Given the description of an element on the screen output the (x, y) to click on. 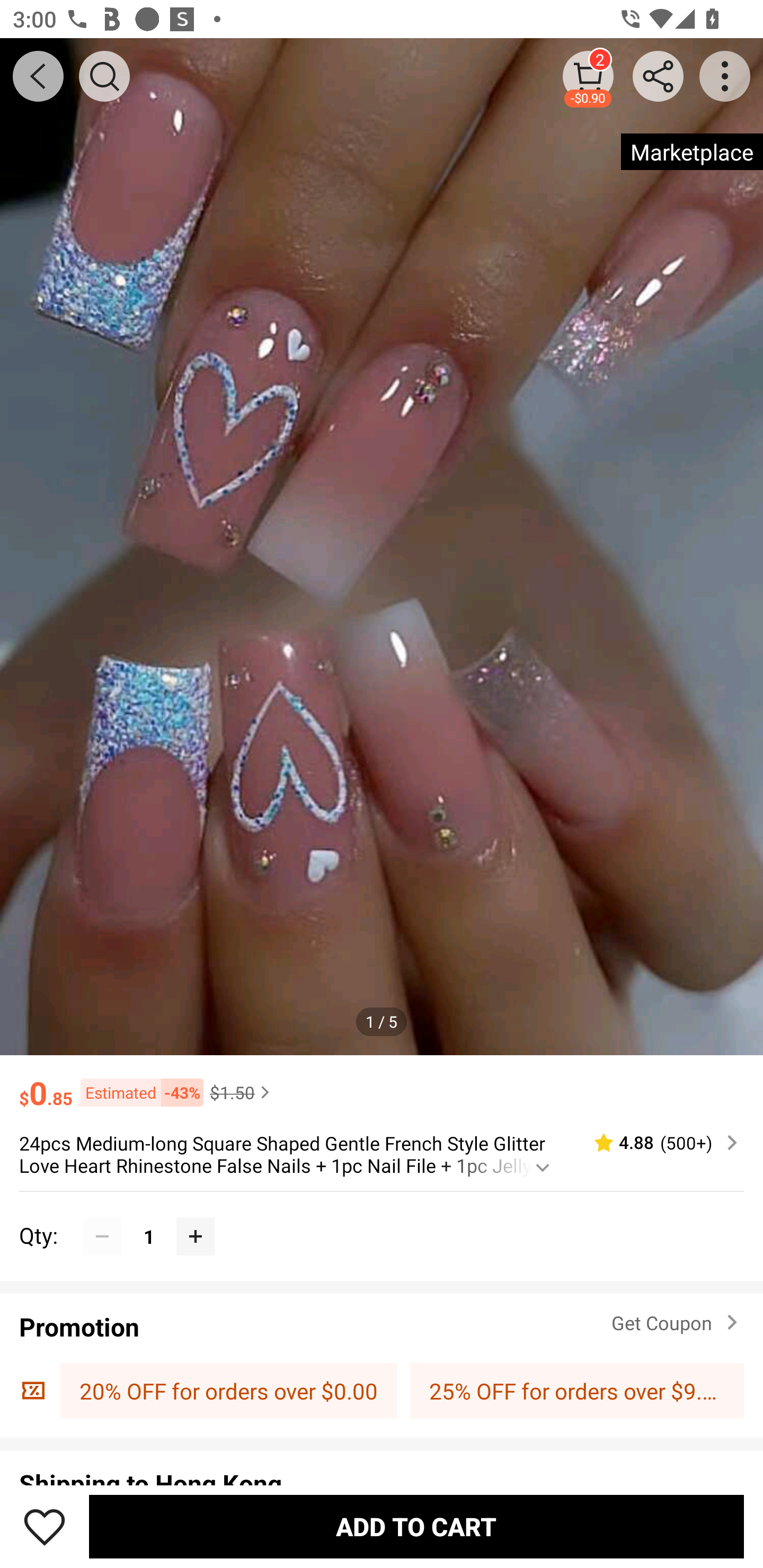
BACK (38, 75)
2 -$0.90 (588, 75)
1 / 5 (381, 1021)
$0.85 Estimated -43% $1.50 (381, 1084)
Estimated -43% (137, 1092)
$1.50 (241, 1091)
4.88 (500‎+) (658, 1142)
Qty: 1 (381, 1216)
ADD TO CART (416, 1526)
Save (44, 1526)
